Given the description of an element on the screen output the (x, y) to click on. 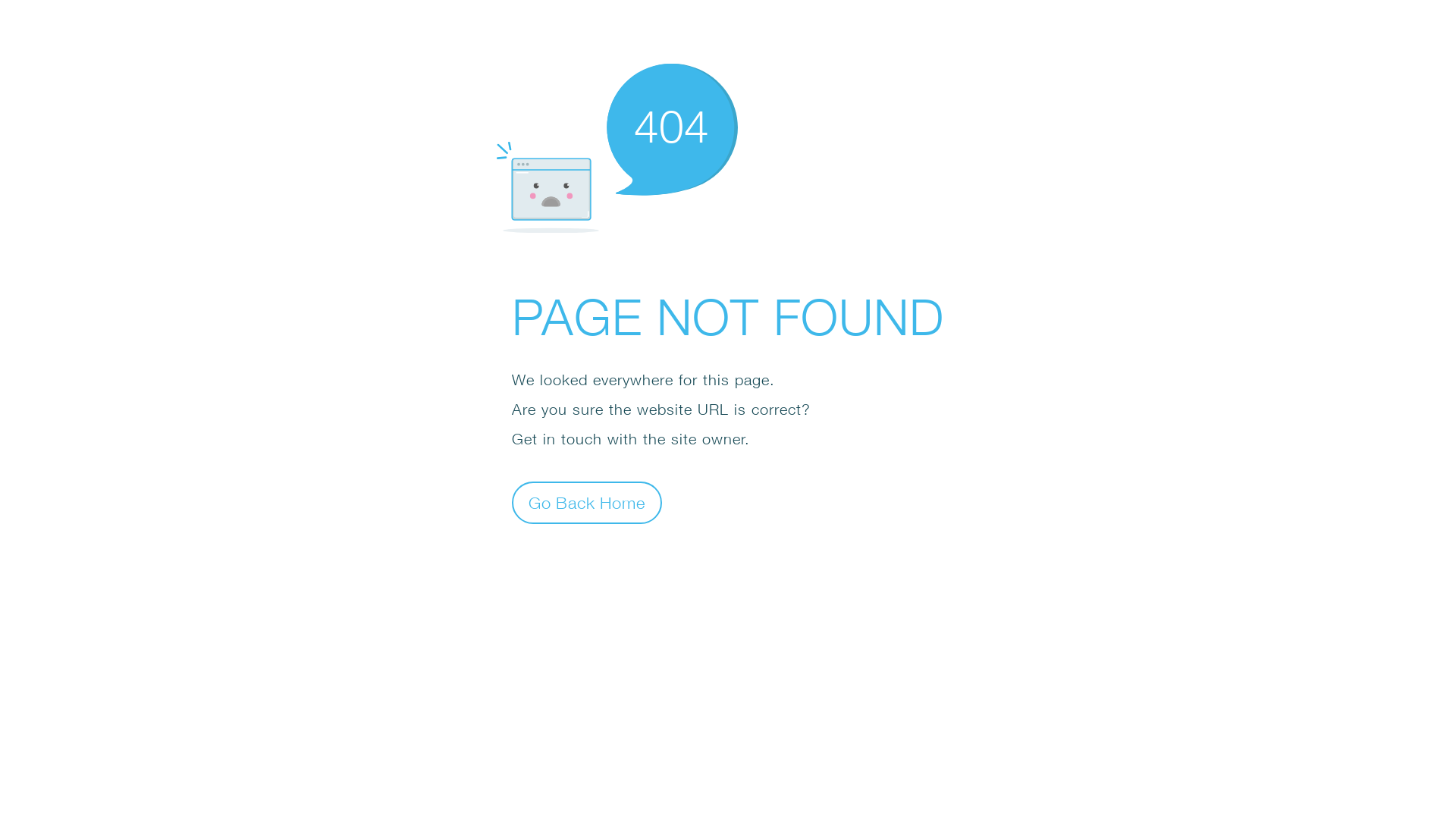
Go Back Home Element type: text (586, 502)
